Given the description of an element on the screen output the (x, y) to click on. 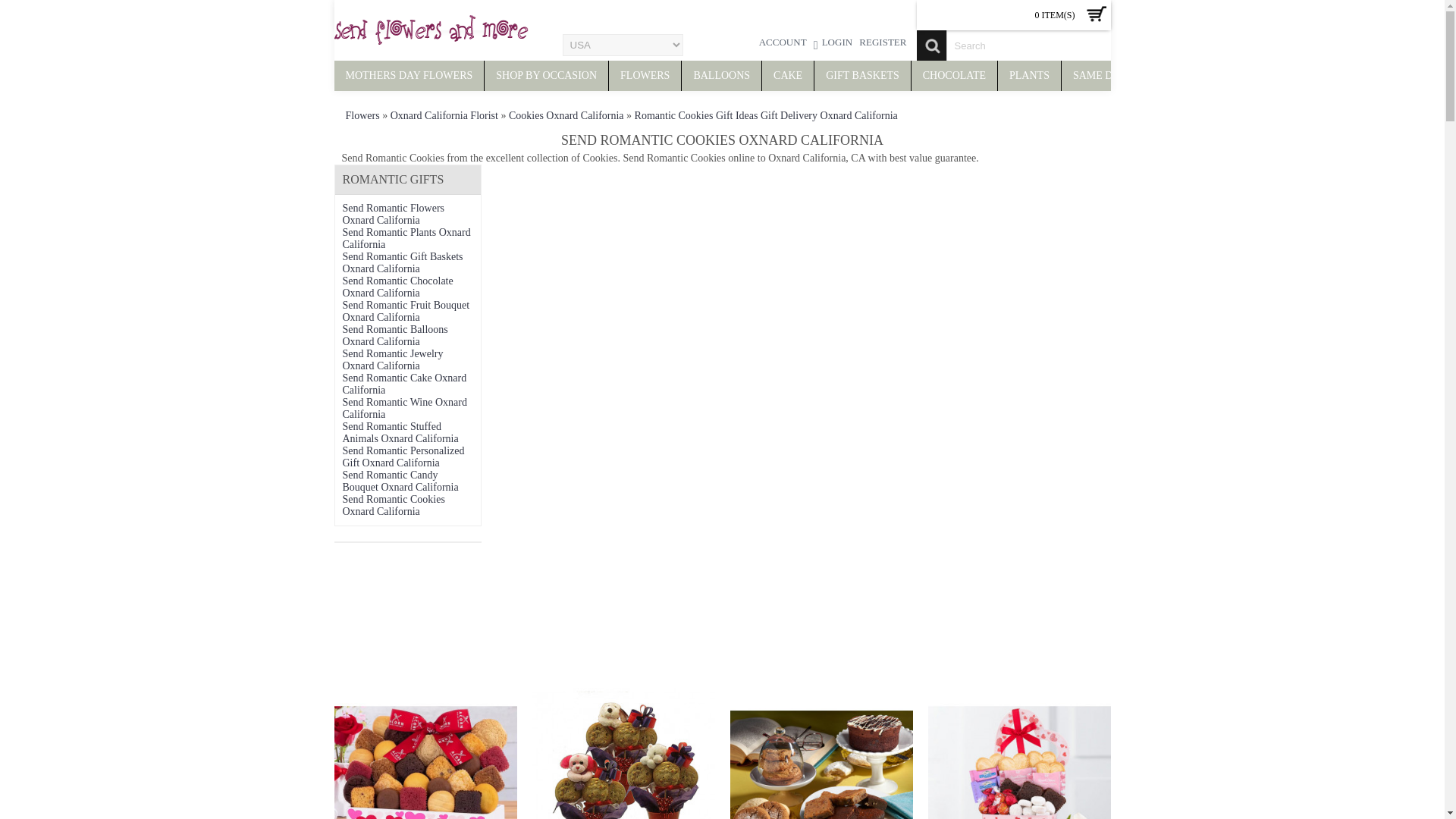
CHOCOLATE (954, 75)
SAME DAY (1085, 75)
sendflowersandmore.com (430, 30)
BALLOONS (721, 75)
Send Romantic Balloons Oxnard California (395, 335)
PLANTS (1029, 75)
Romantic Cookies Gift Ideas Gift Delivery Oxnard California (766, 115)
Romantic Cookies Gift Ideas Gift Delivery Oxnard California (766, 115)
GIFT BASKETS (862, 75)
Send Romantic Flowers Oxnard California (393, 214)
